Given the description of an element on the screen output the (x, y) to click on. 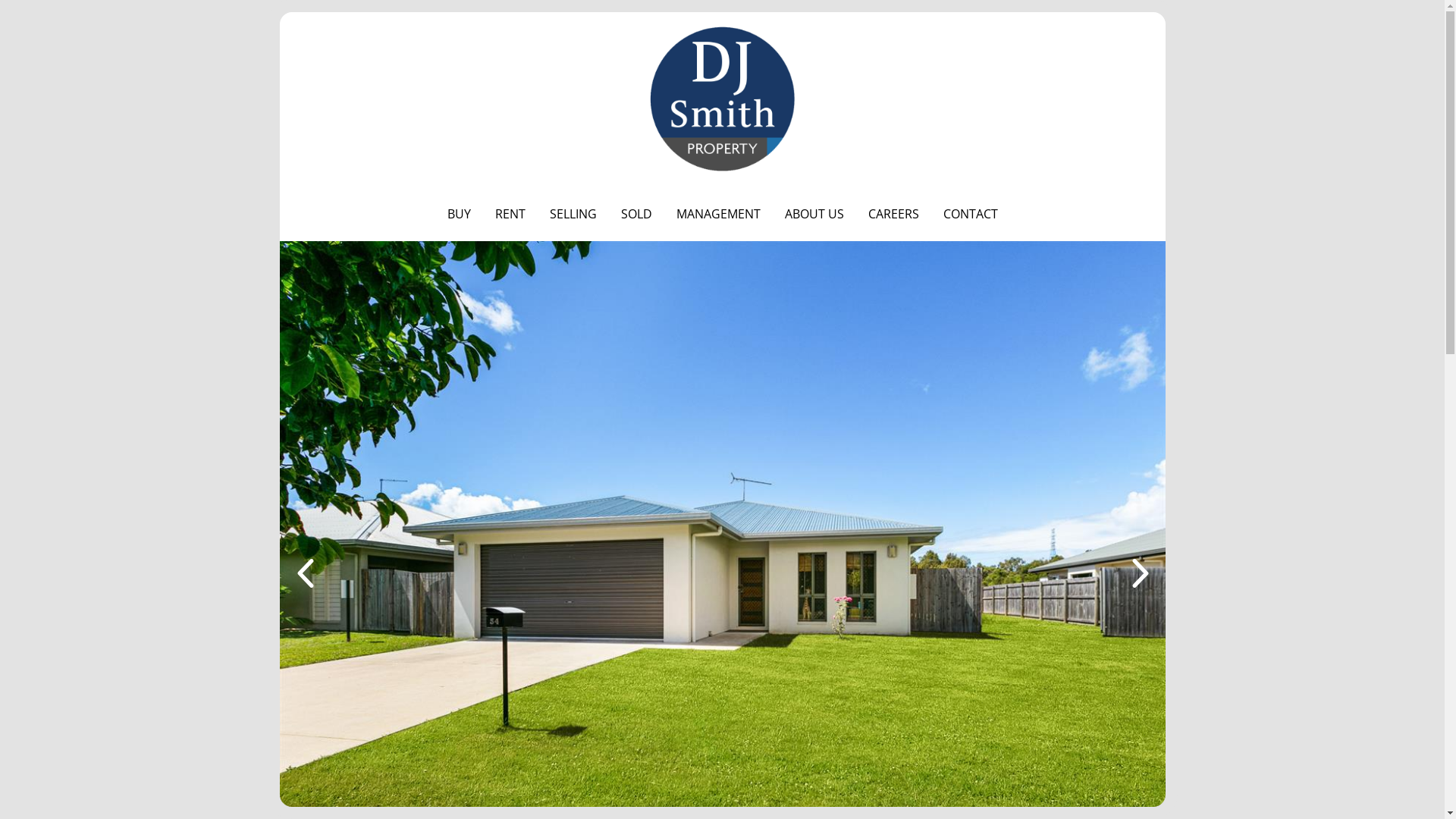
CONTACT Element type: text (970, 213)
BUY Element type: text (459, 213)
ABOUT US Element type: text (813, 213)
MANAGEMENT Element type: text (718, 213)
SOLD Element type: text (635, 213)
RENT Element type: text (509, 213)
SELLING Element type: text (572, 213)
CAREERS Element type: text (892, 213)
